Given the description of an element on the screen output the (x, y) to click on. 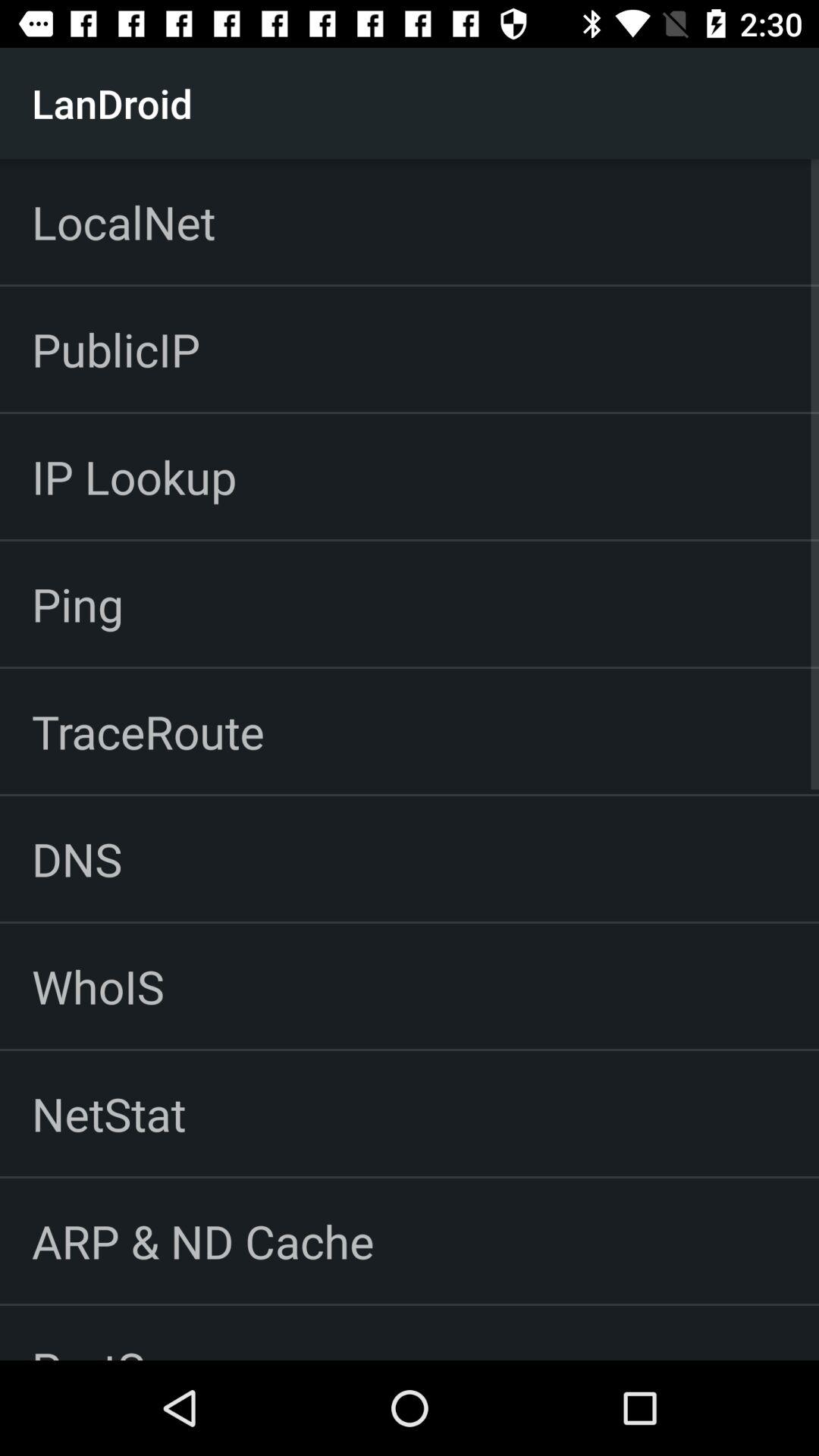
turn on the dns item (77, 858)
